Given the description of an element on the screen output the (x, y) to click on. 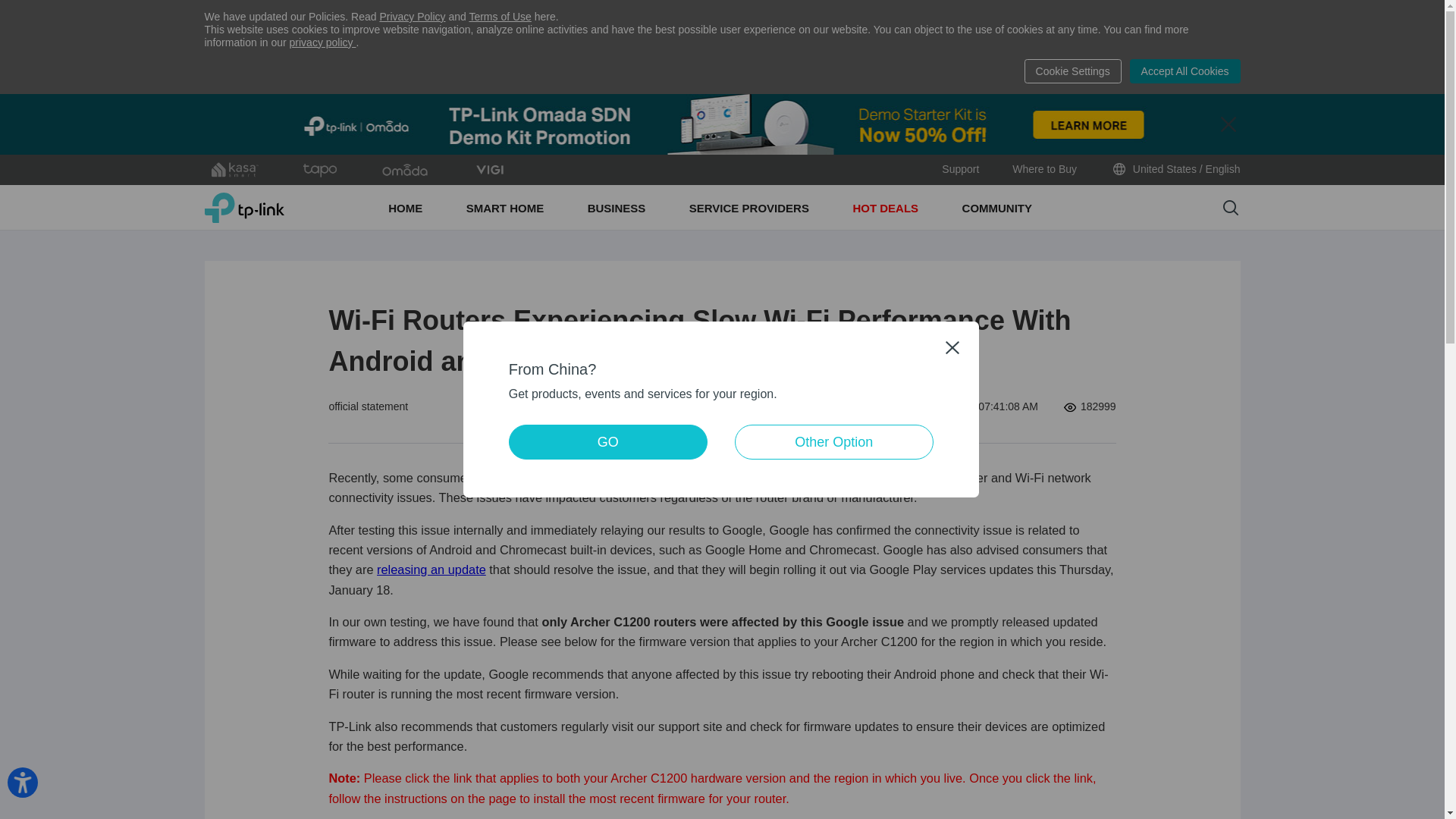
Privacy Policy (411, 16)
TP-Link, Reliably Smart (244, 207)
Terms of Use (499, 16)
Support (960, 169)
Search (1230, 207)
Where to Buy (1044, 169)
Accept All Cookies (1184, 70)
privacy policy (322, 42)
